Given the description of an element on the screen output the (x, y) to click on. 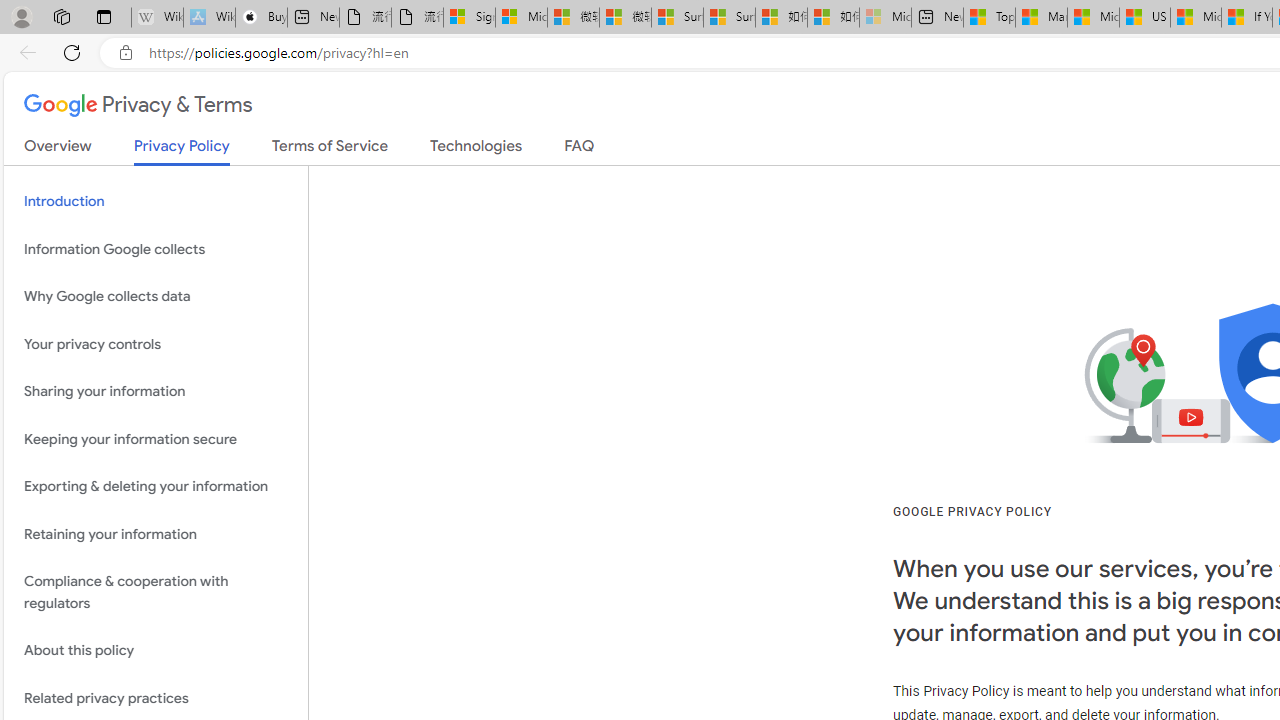
FAQ (579, 150)
Retaining your information (155, 533)
